Given the description of an element on the screen output the (x, y) to click on. 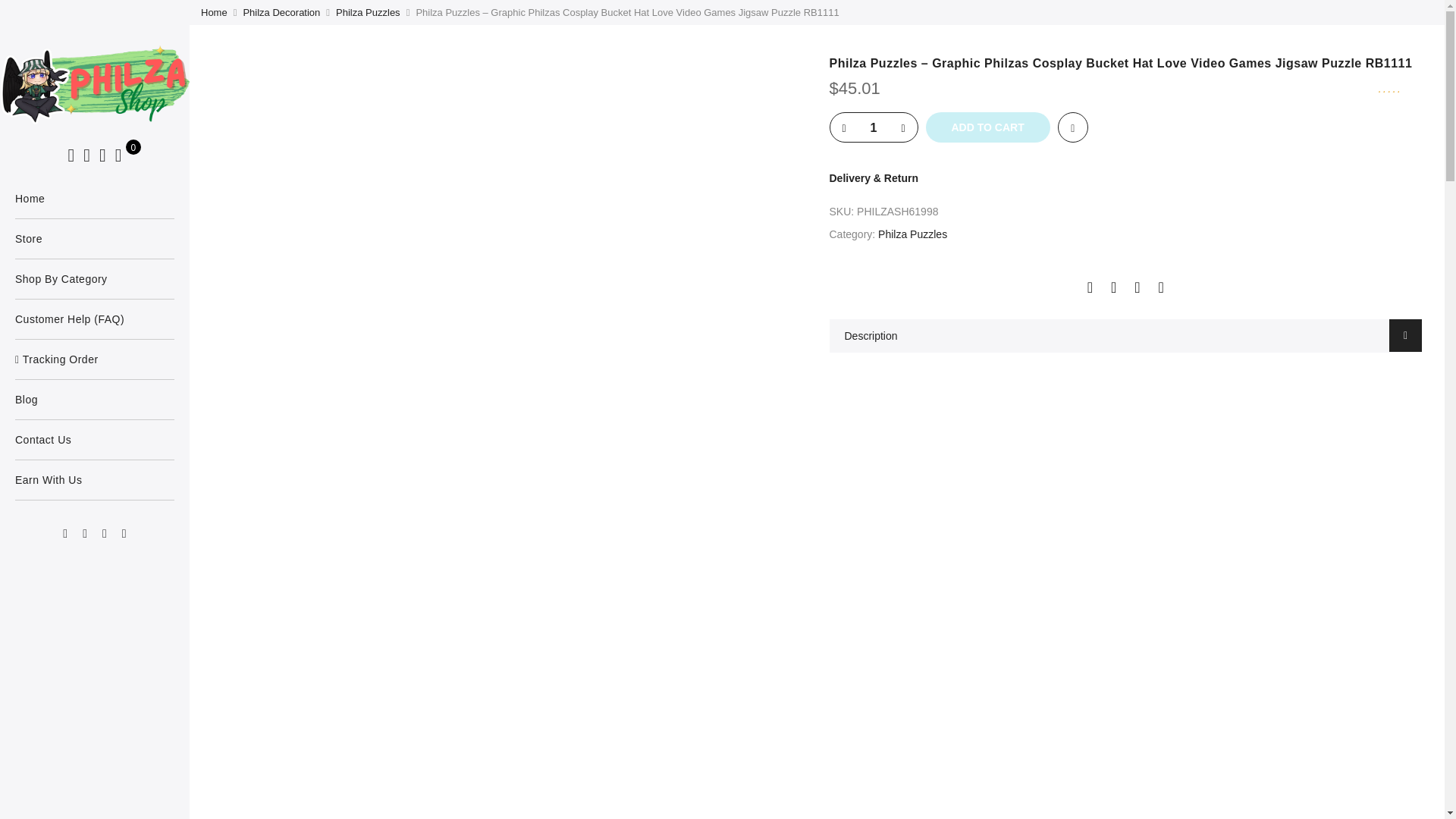
1 (873, 128)
Store (94, 238)
Home (94, 198)
Shop By Category (94, 278)
Qty (873, 128)
